Given the description of an element on the screen output the (x, y) to click on. 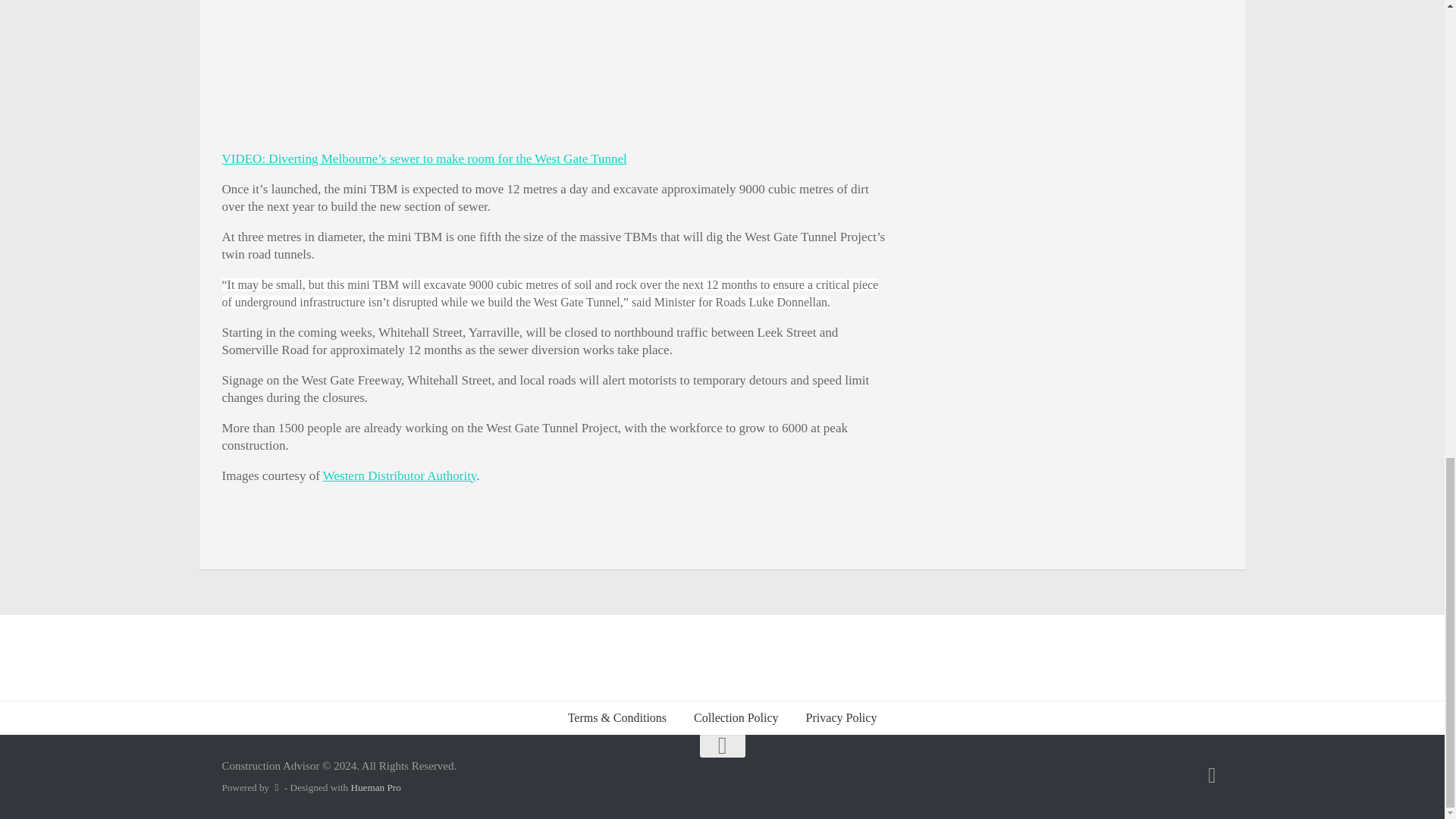
Collection Policy (735, 717)
Hueman Pro (375, 787)
Hueman Pro (375, 787)
Follow us on Linkedin (1212, 775)
Privacy Policy (841, 717)
Powered by WordPress (275, 787)
Western Distributor Authority (399, 475)
